Given the description of an element on the screen output the (x, y) to click on. 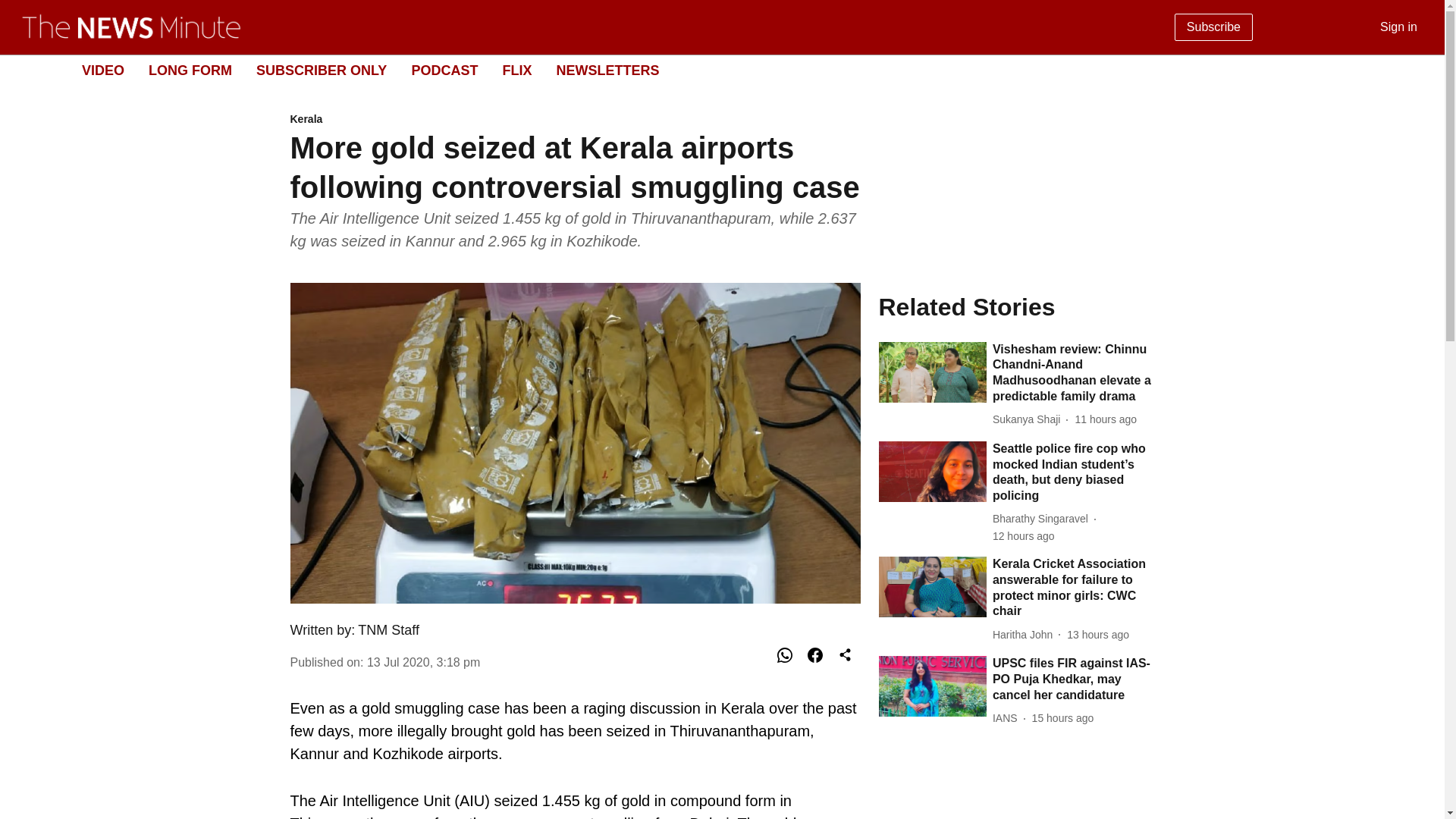
PODCAST (443, 70)
TNM Staff (388, 630)
NEWSLETTERS (607, 70)
2024-07-19 15:10 (1105, 419)
LONG FORM (189, 70)
Related Stories (1015, 306)
2020-07-13 07:18 (709, 70)
VIDEO (423, 661)
Bharathy Singaravel (102, 70)
FLIX (1043, 519)
SUBSCRIBER ONLY (516, 70)
2024-07-19 11:17 (321, 70)
